Given the description of an element on the screen output the (x, y) to click on. 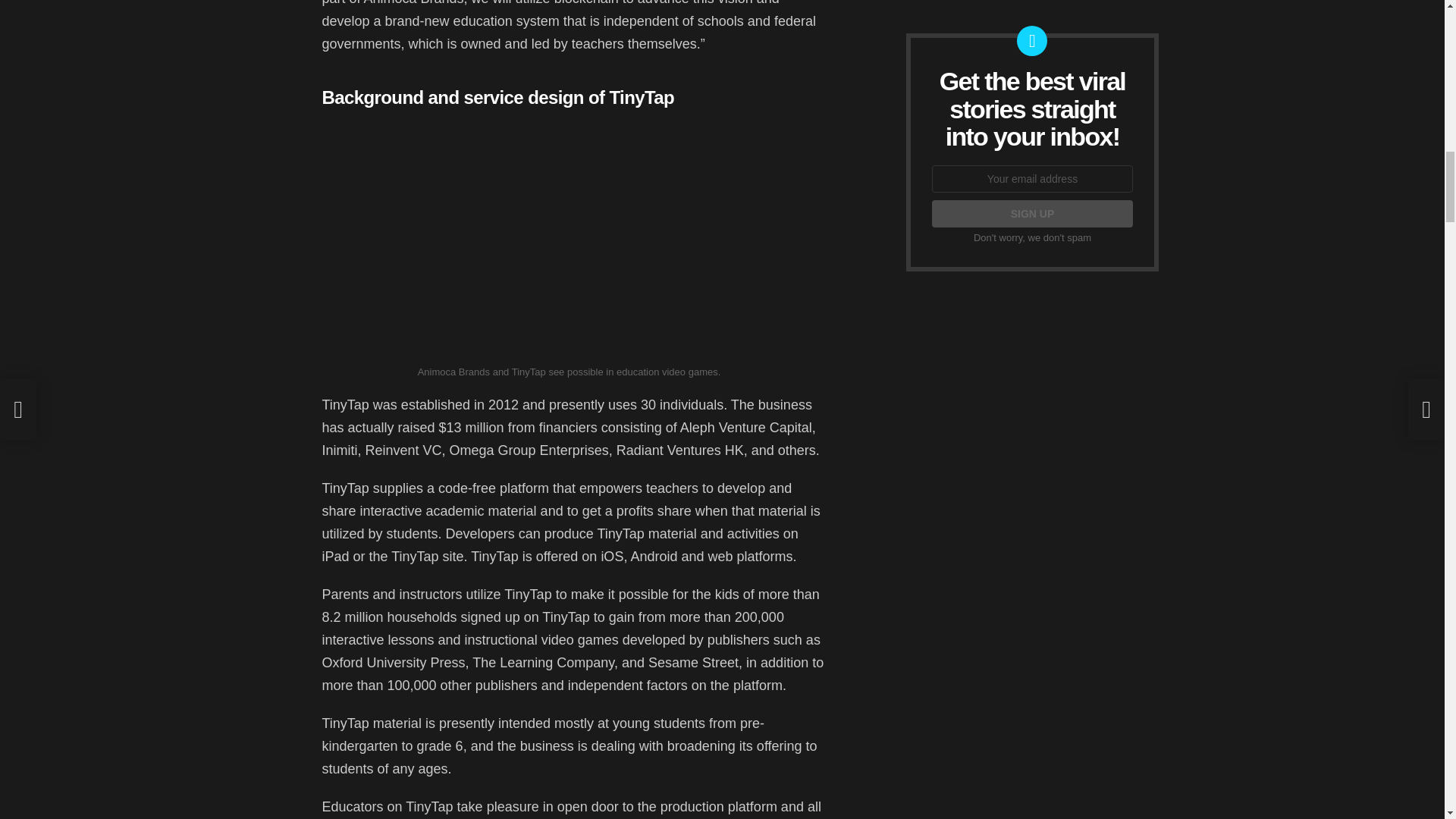
Sign up (1031, 213)
